Given the description of an element on the screen output the (x, y) to click on. 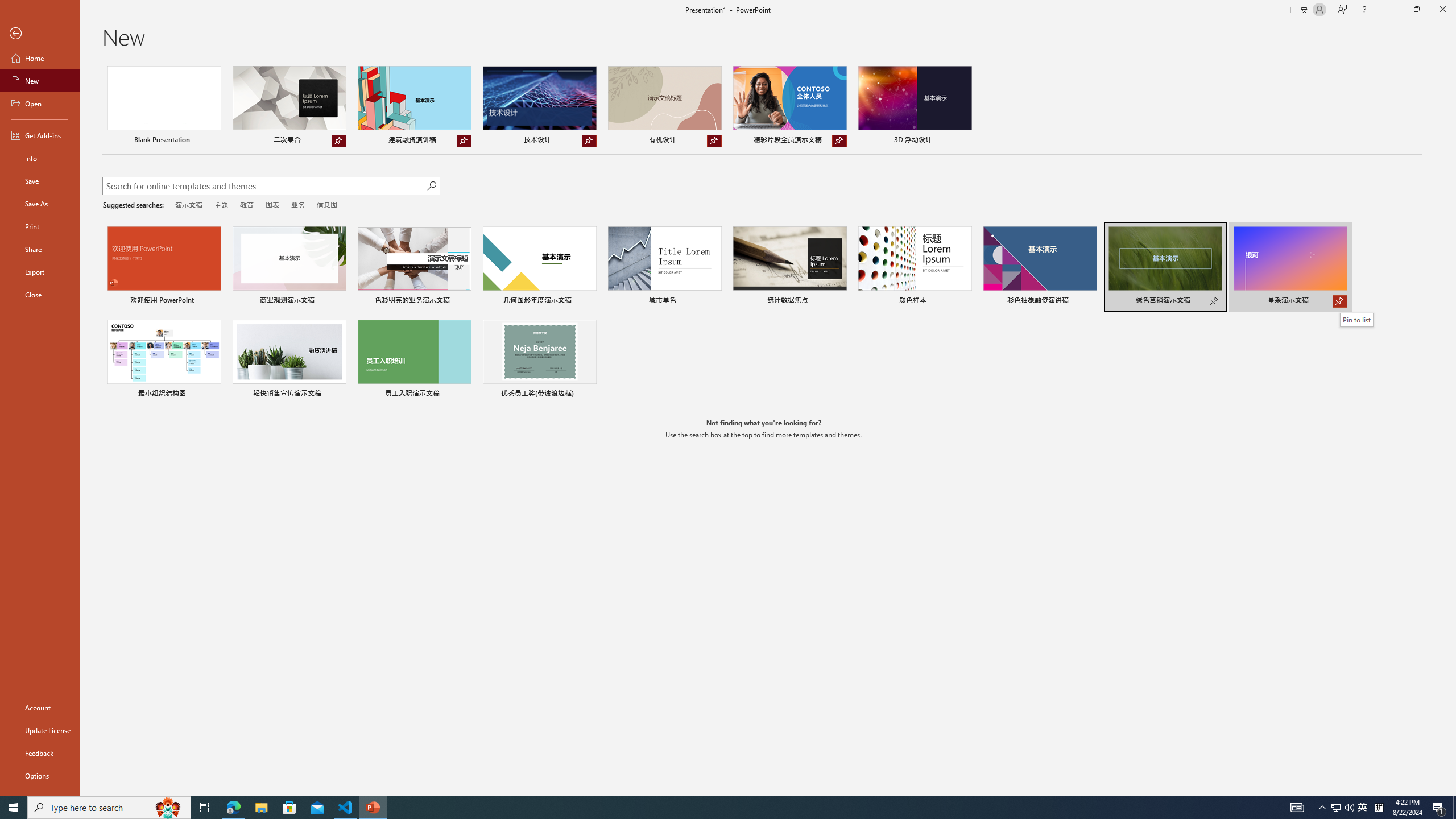
Get Add-ins (40, 134)
Back (40, 33)
Blank Presentation (164, 106)
Save As (40, 203)
Export (40, 271)
Pin to list (1356, 319)
